Given the description of an element on the screen output the (x, y) to click on. 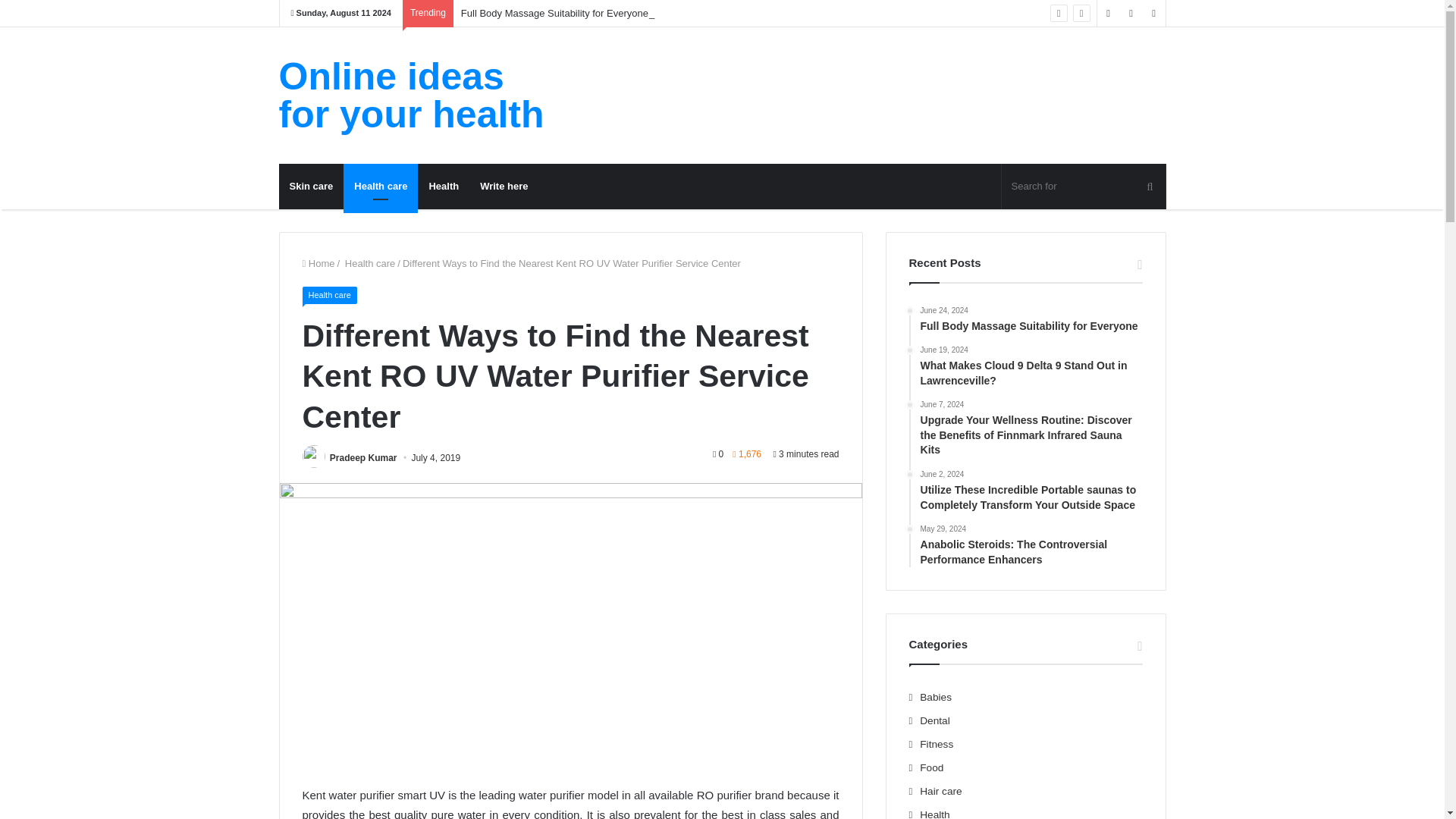
0 (718, 453)
Search for (1082, 186)
Online ideas for your health (419, 95)
Full Body Massage Suitability for Everyone (554, 12)
Health care (328, 294)
Home (317, 263)
Skin care (311, 186)
Full Body Massage Suitability for Everyone (554, 12)
Health care (380, 186)
Health (442, 186)
